Given the description of an element on the screen output the (x, y) to click on. 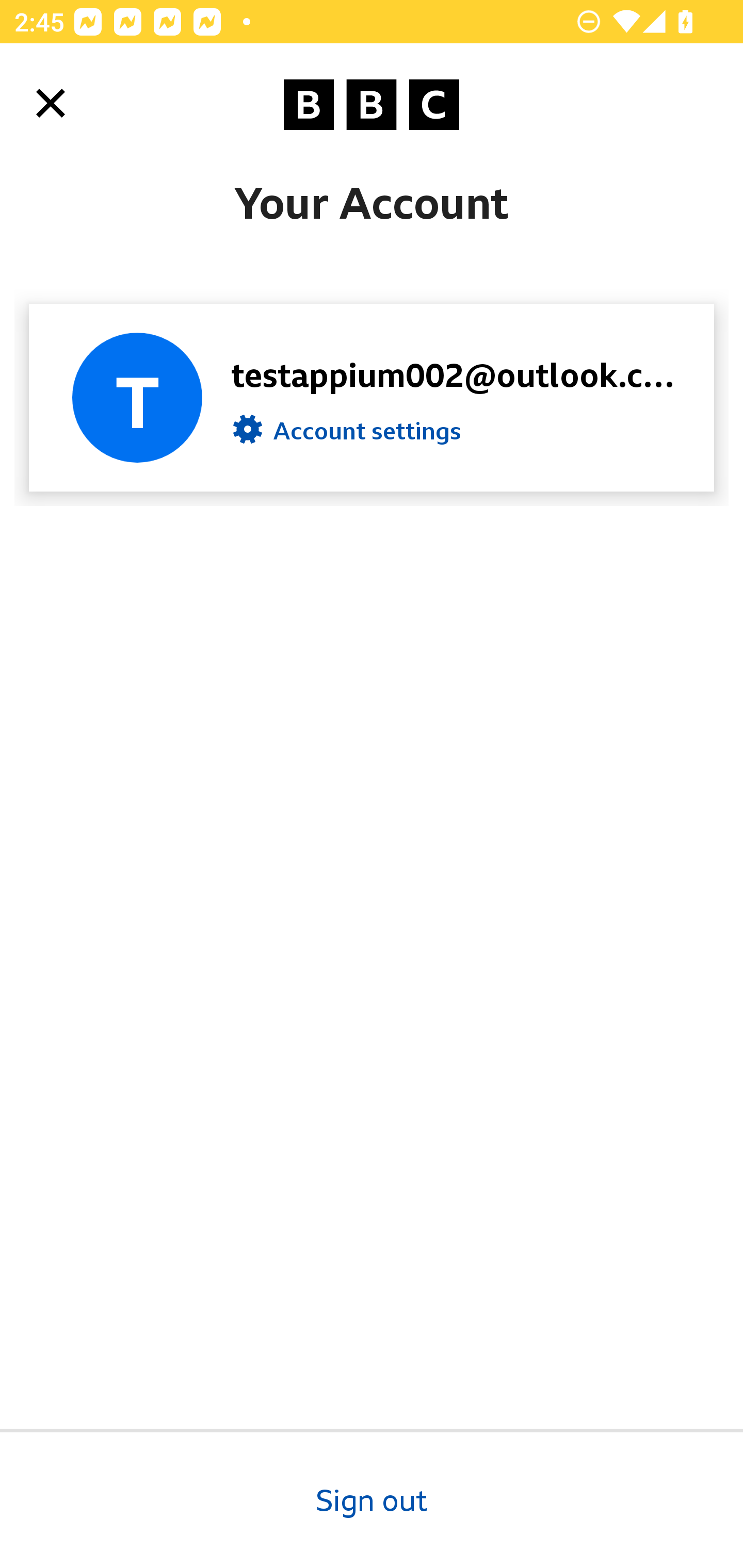
Close (50, 103)
testappium002@outlook.com Account settings (371, 397)
Account settings (346, 433)
Sign out (371, 1498)
